Given the description of an element on the screen output the (x, y) to click on. 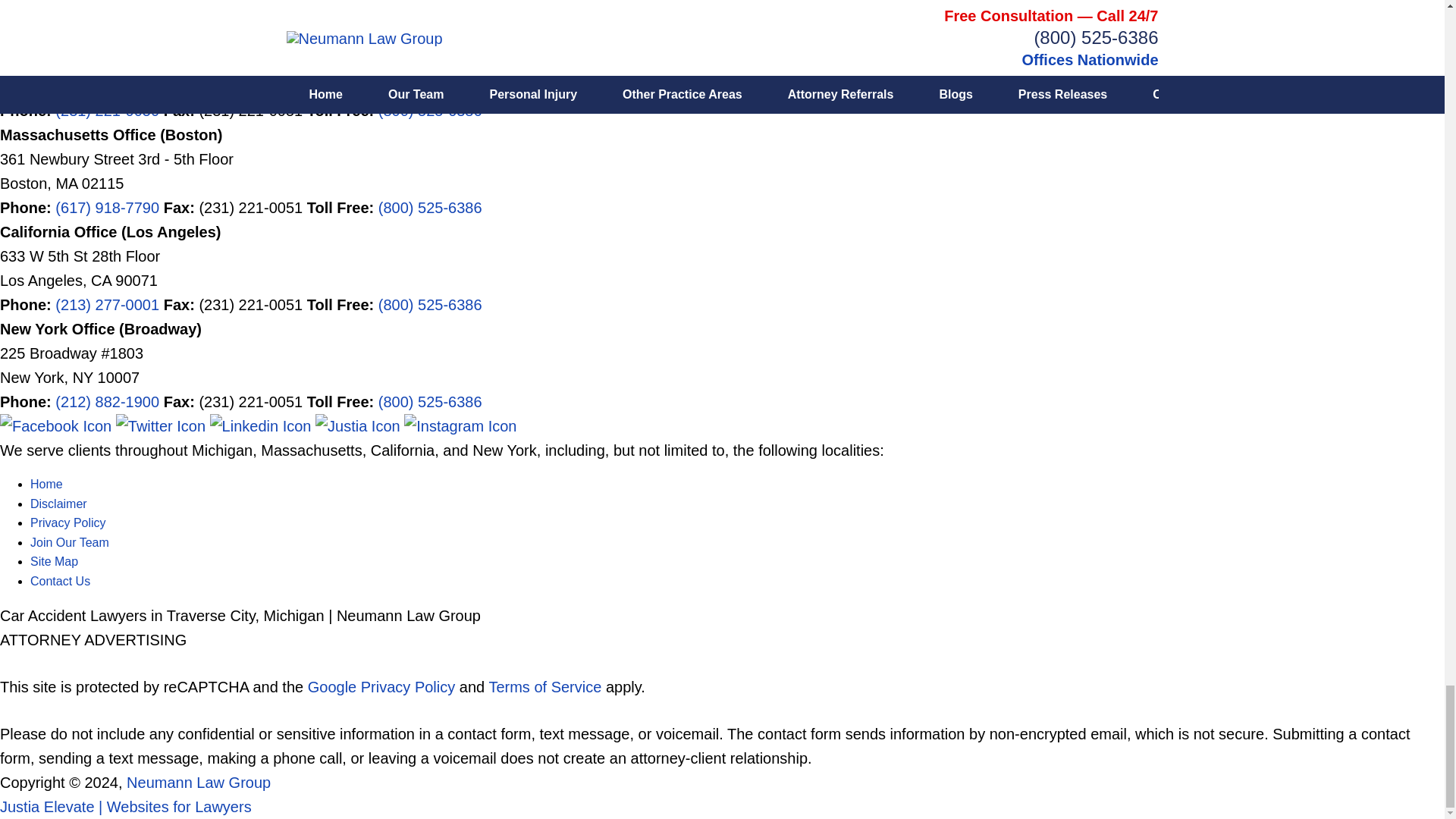
Instagram (460, 425)
Justia (359, 425)
Facebook (58, 425)
Twitter (162, 425)
Linkedin (262, 425)
